Given the description of an element on the screen output the (x, y) to click on. 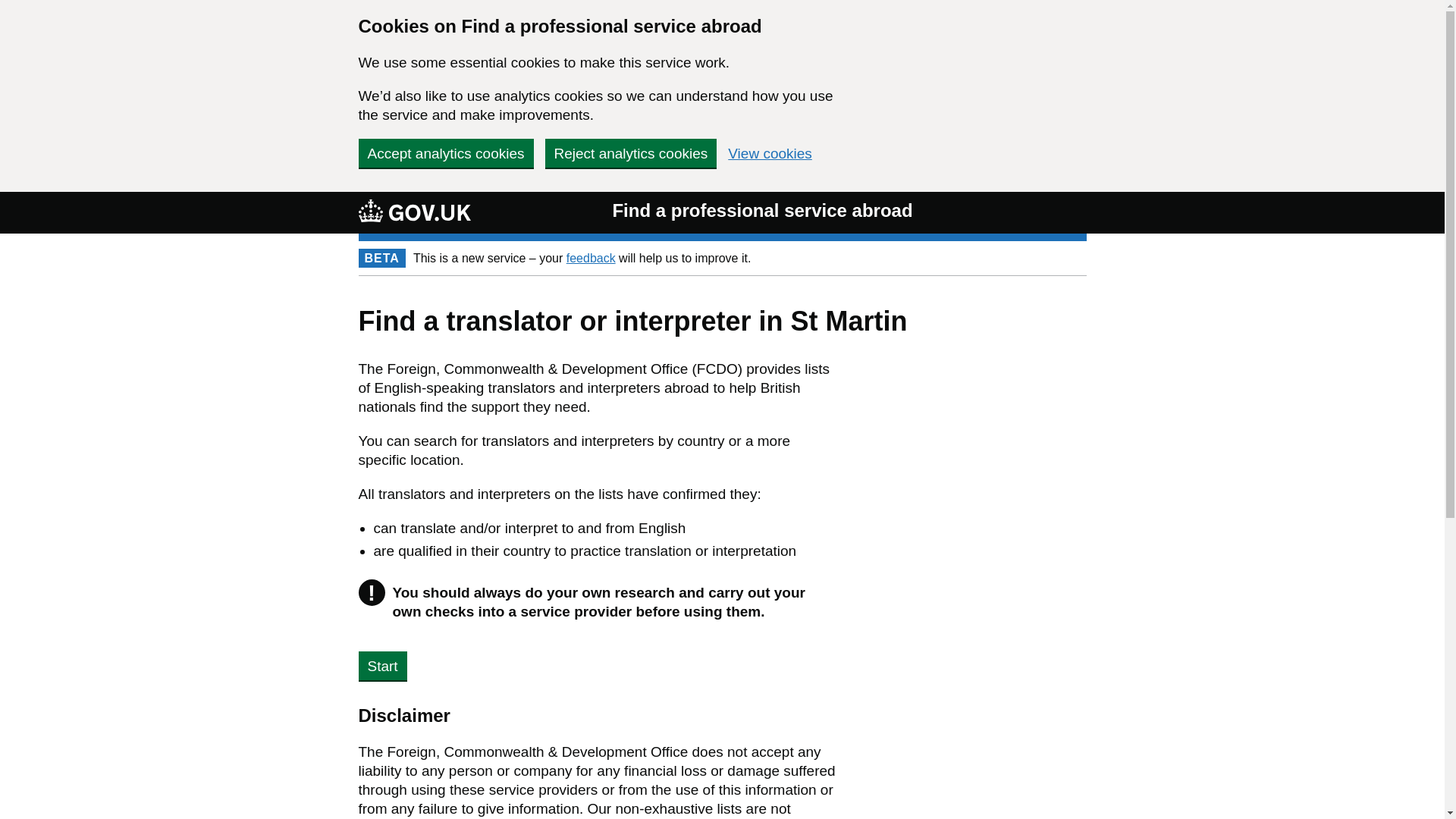
feedback (590, 257)
GOV.UK (414, 210)
Start (382, 665)
GOV.UK (414, 212)
Phase Banner (722, 258)
View cookies (770, 153)
Find a professional service abroad (761, 210)
Skip to main content (11, 199)
Reject analytics cookies (630, 152)
Accept analytics cookies (445, 152)
